Given the description of an element on the screen output the (x, y) to click on. 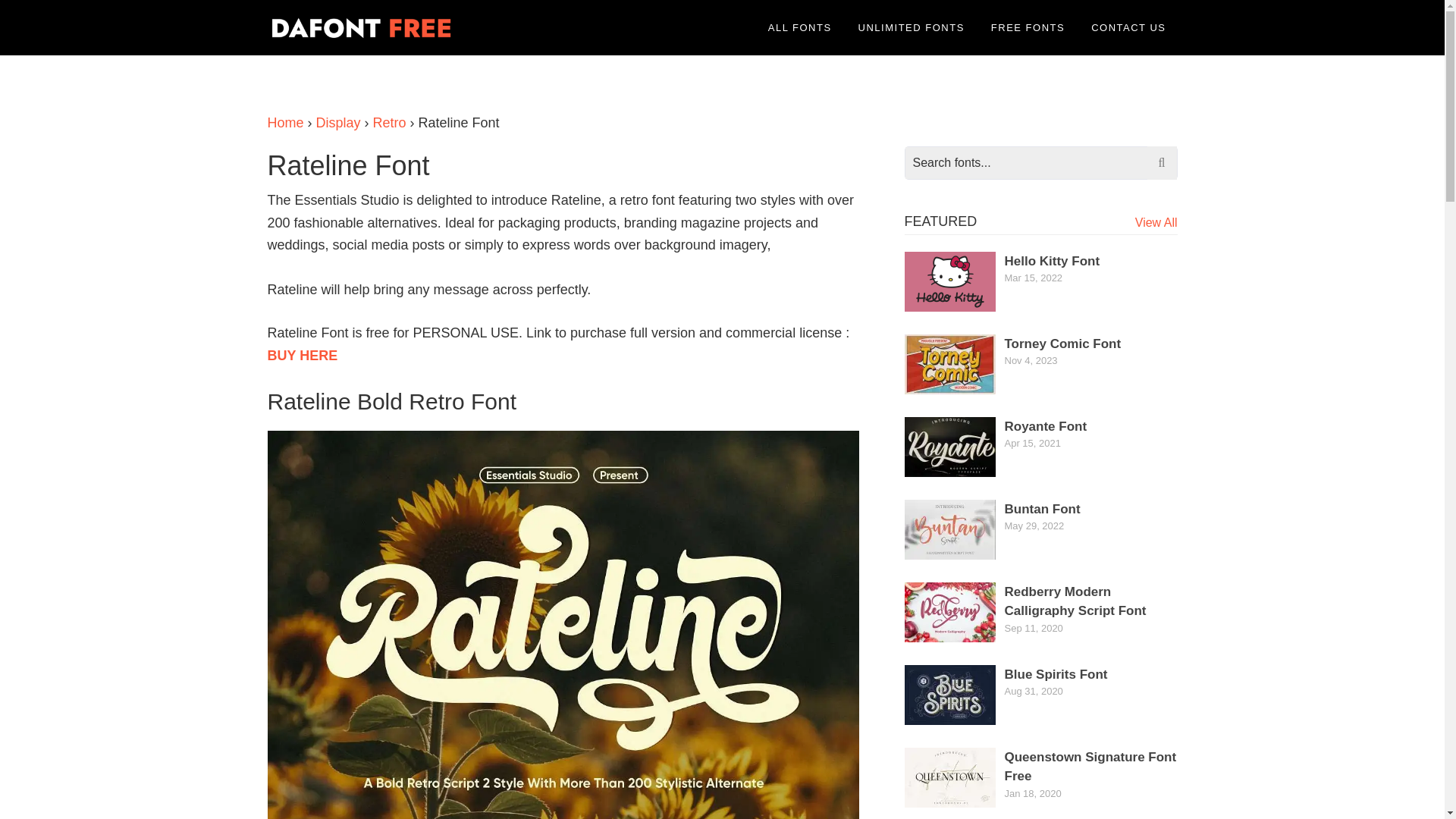
BUY HERE (301, 355)
UNLIMITED FONTS (911, 27)
ALL FONTS (800, 27)
Retro (389, 122)
FREE FONTS (1027, 27)
Home (284, 122)
Display (338, 122)
CONTACT US (1128, 27)
